Given the description of an element on the screen output the (x, y) to click on. 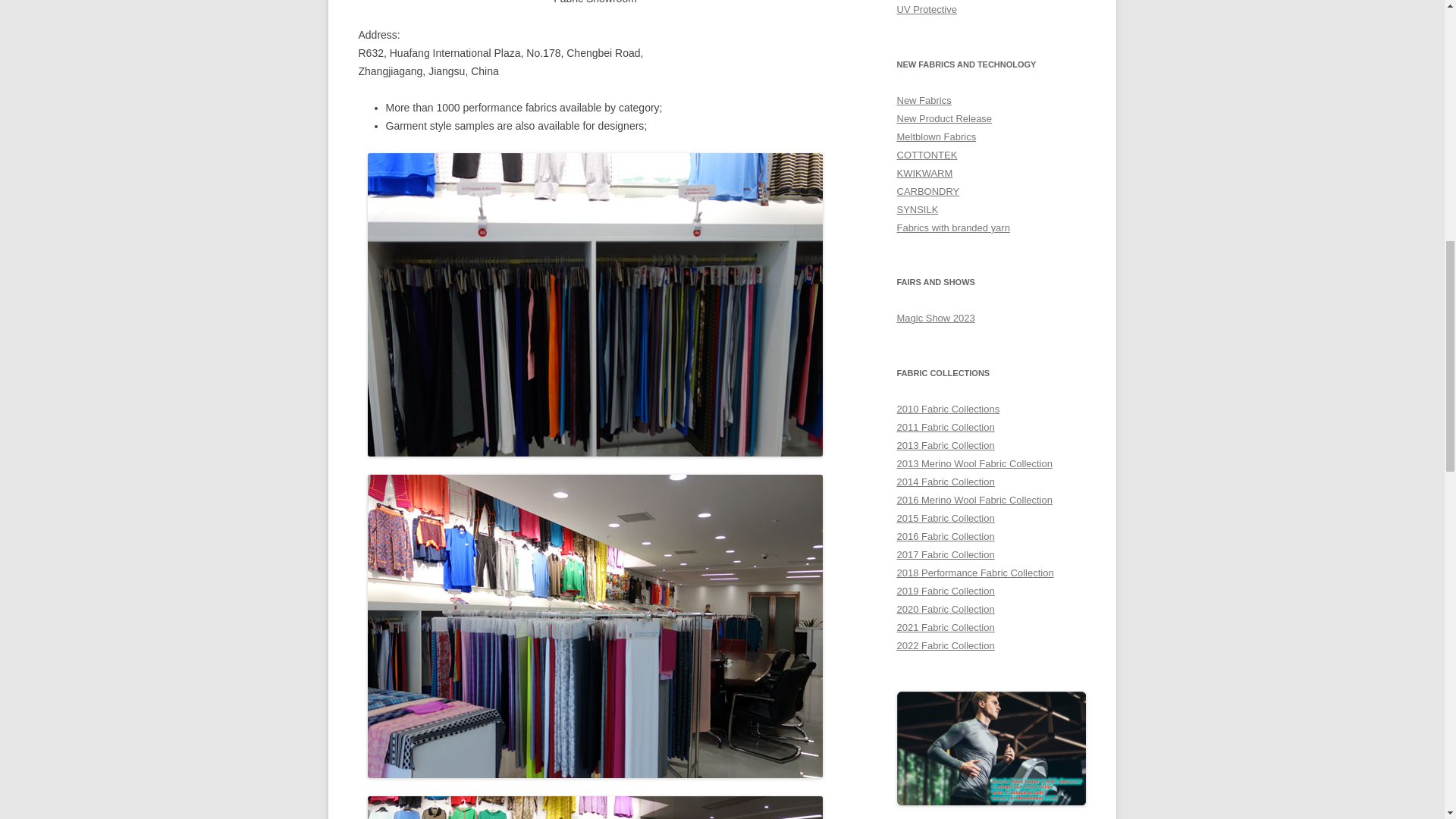
New Product Release (943, 118)
UV Protective (926, 9)
New Fabrics (923, 100)
